Given the description of an element on the screen output the (x, y) to click on. 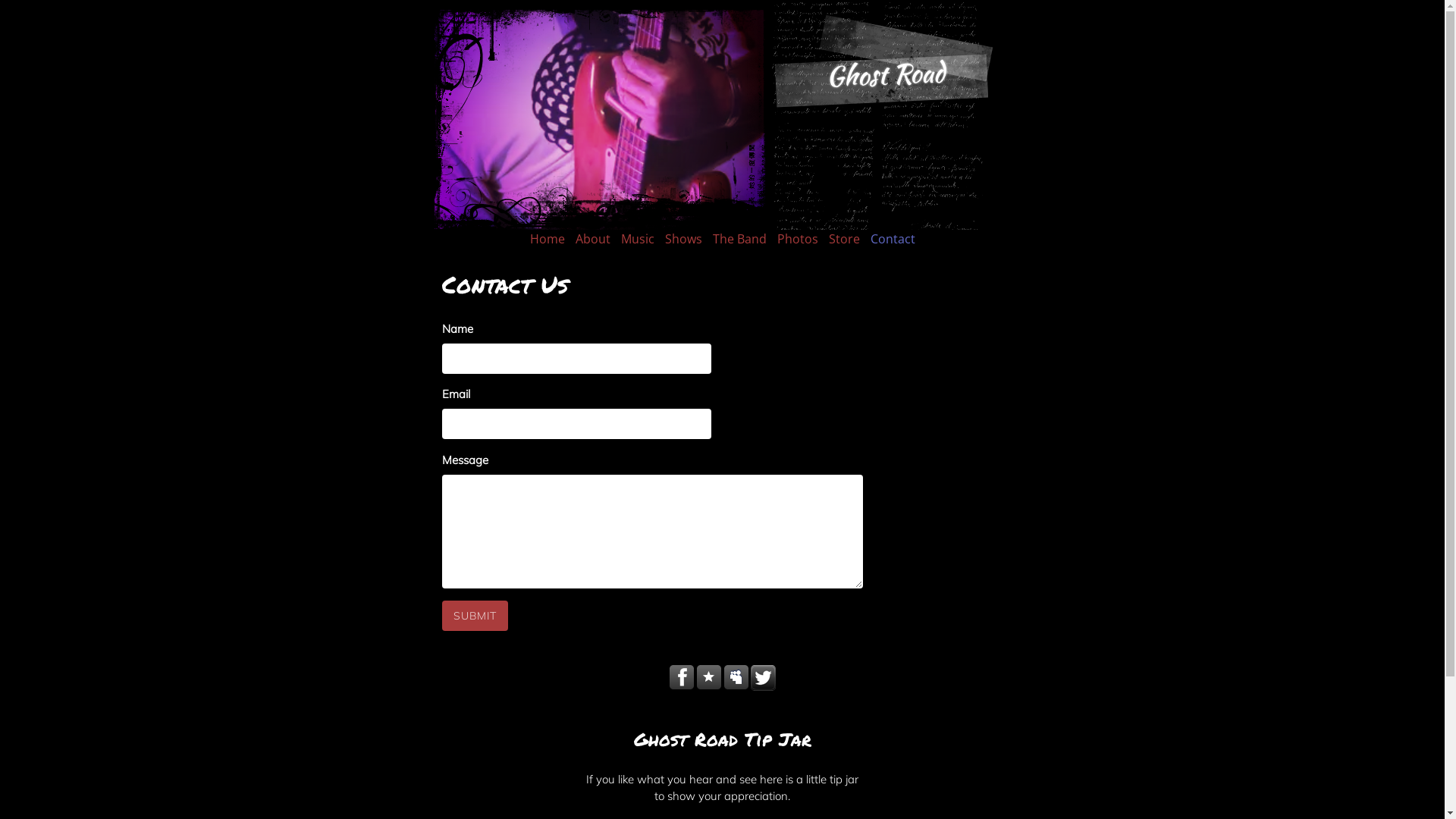
About Element type: text (591, 238)
http://twitter.com/ghostrd Element type: hover (762, 677)
Shows Element type: text (682, 238)
Contact Element type: text (892, 238)
Photos Element type: text (796, 238)
https://www.facebook.com/Ghost-Road-118053821570687/ Element type: hover (680, 677)
Ghost Road Element type: text (884, 74)
Store Element type: text (843, 238)
Home Element type: text (546, 238)
Submit Element type: text (474, 615)
https://myspace.com/ghostroad Element type: hover (735, 677)
Music Element type: text (636, 238)
The Band Element type: text (739, 238)
